Given the description of an element on the screen output the (x, y) to click on. 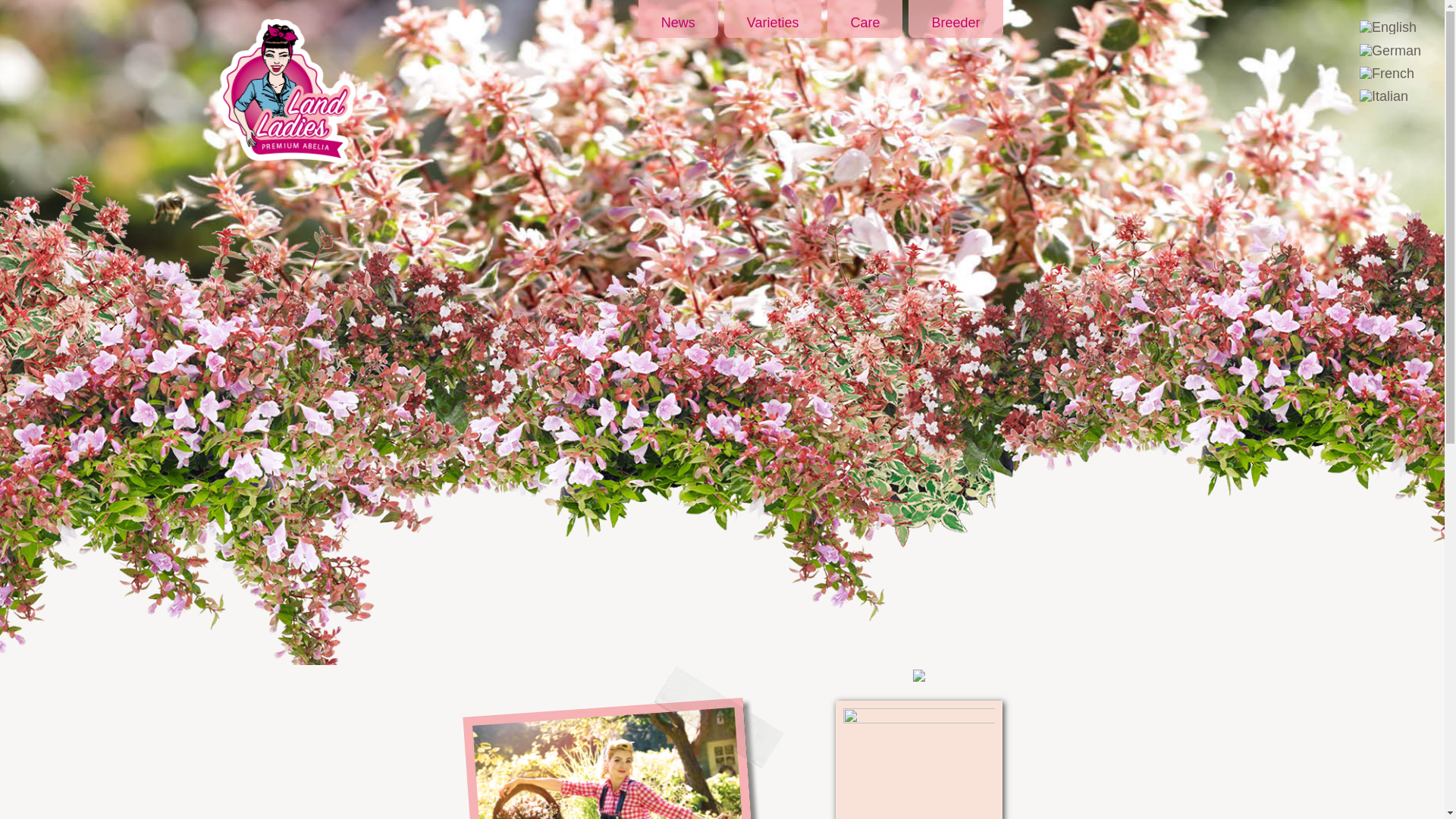
Care (864, 18)
HOT TIP (919, 760)
News (678, 18)
Varieties (772, 18)
Breeder (955, 18)
